Given the description of an element on the screen output the (x, y) to click on. 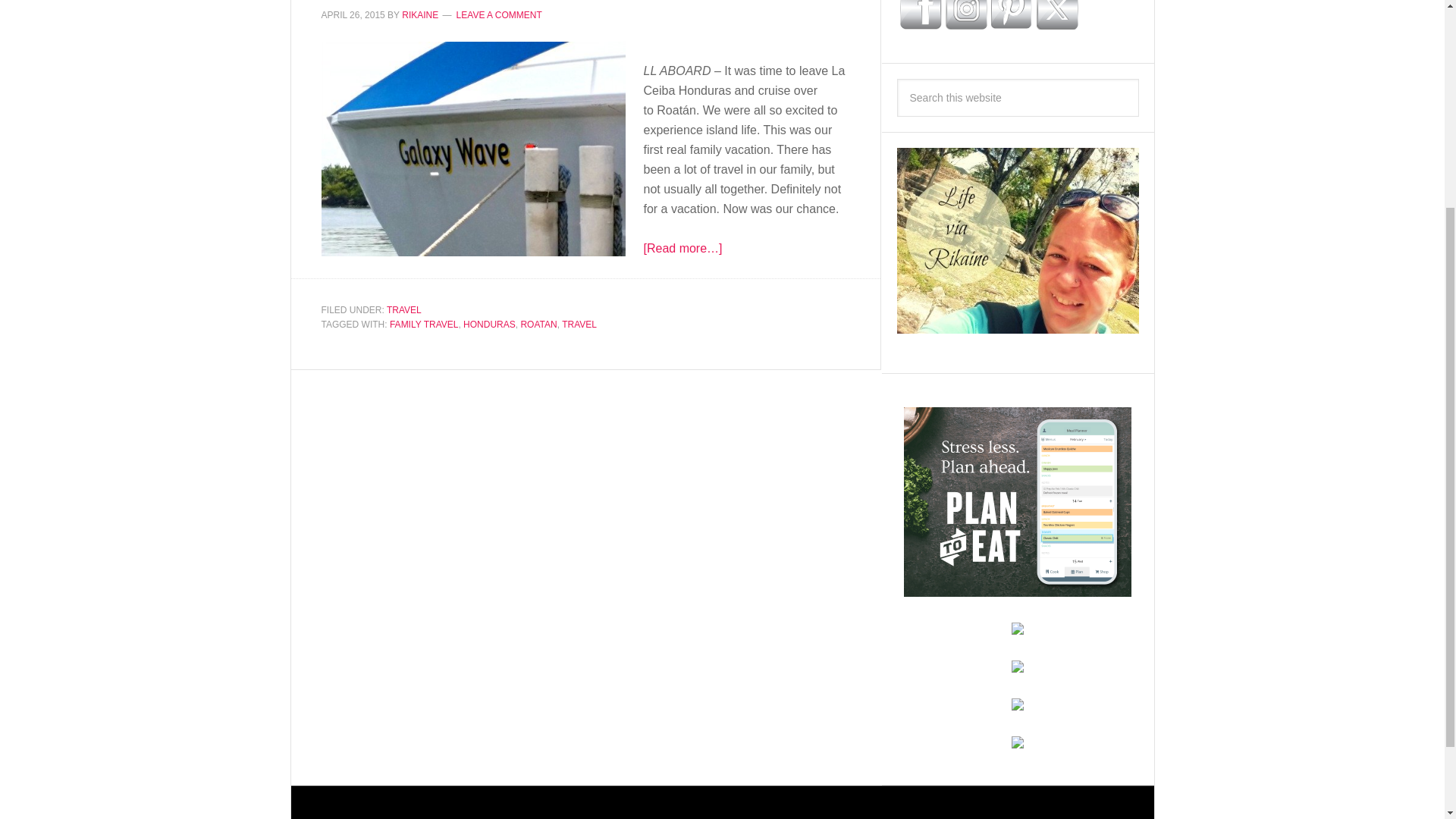
TRAVEL (579, 324)
Twitter (1056, 14)
HONDURAS (489, 324)
RIKAINE (419, 14)
LEAVE A COMMENT (499, 14)
Simple Meal Planning - Plan to Eat (1017, 589)
Facebook (919, 14)
ROATAN (537, 324)
Instagram (965, 14)
TRAVEL (404, 309)
FAMILY TRAVEL (424, 324)
Pinterest (1011, 14)
